Given the description of an element on the screen output the (x, y) to click on. 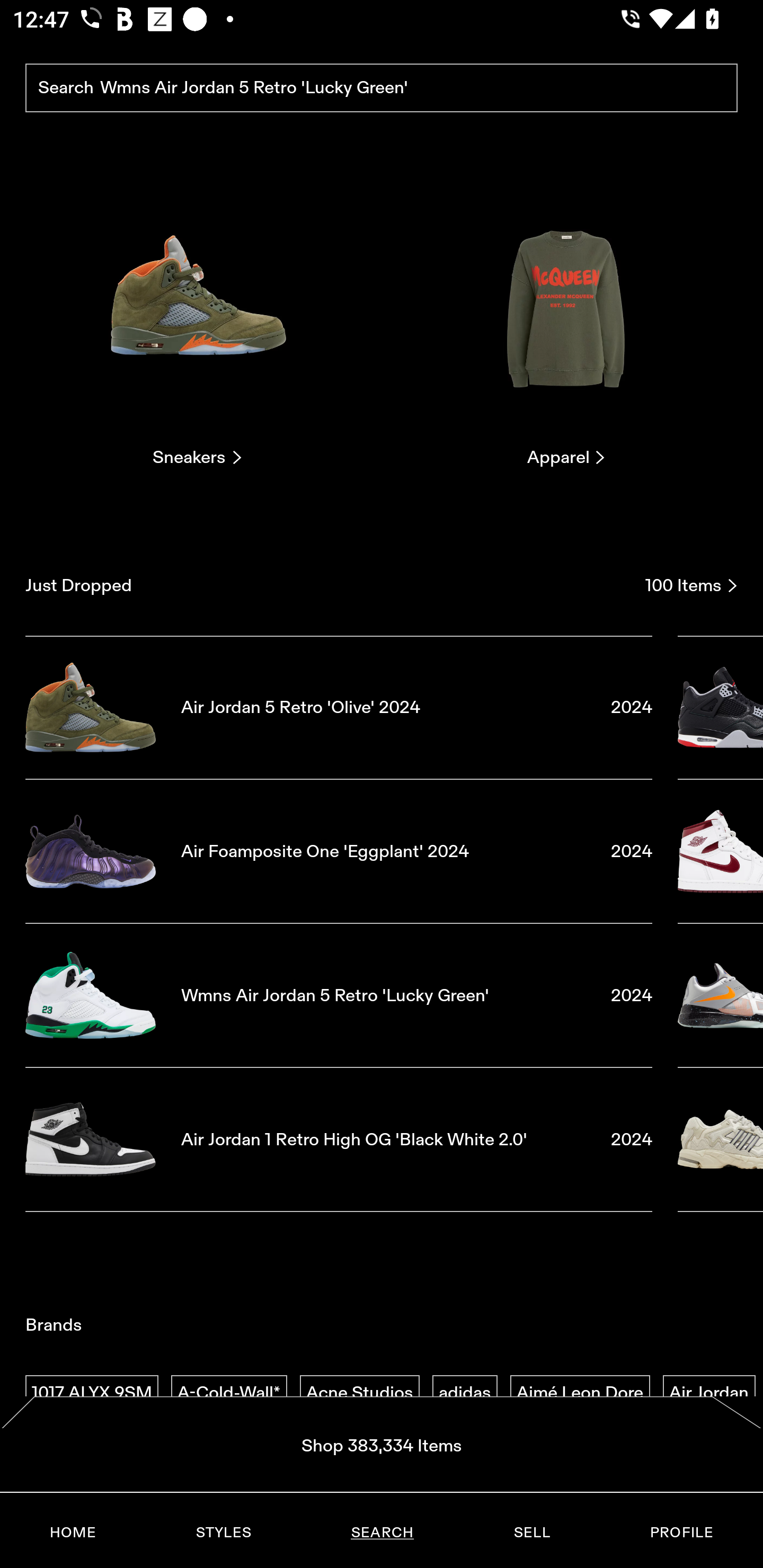
Search (381, 88)
Sneakers (196, 323)
Apparel (565, 323)
Just Dropped (328, 585)
100 Items (691, 585)
Air Jordan 5 Retro 'Olive' 2024 2024 (338, 707)
Air Foamposite One 'Eggplant' 2024 2024 (338, 851)
Wmns Air Jordan 5 Retro 'Lucky Green' 2024 (338, 995)
Air Jordan 1 Retro High OG 'Black White 2.0' 2024 (338, 1139)
1017 ALYX 9SM (91, 1393)
A-Cold-Wall* (228, 1393)
Acne Studios (359, 1393)
adidas (464, 1393)
Aimé Leon Dore (580, 1393)
Air Jordan (709, 1393)
HOME (72, 1532)
STYLES (222, 1532)
SEARCH (381, 1532)
SELL (531, 1532)
PROFILE (681, 1532)
